Given the description of an element on the screen output the (x, y) to click on. 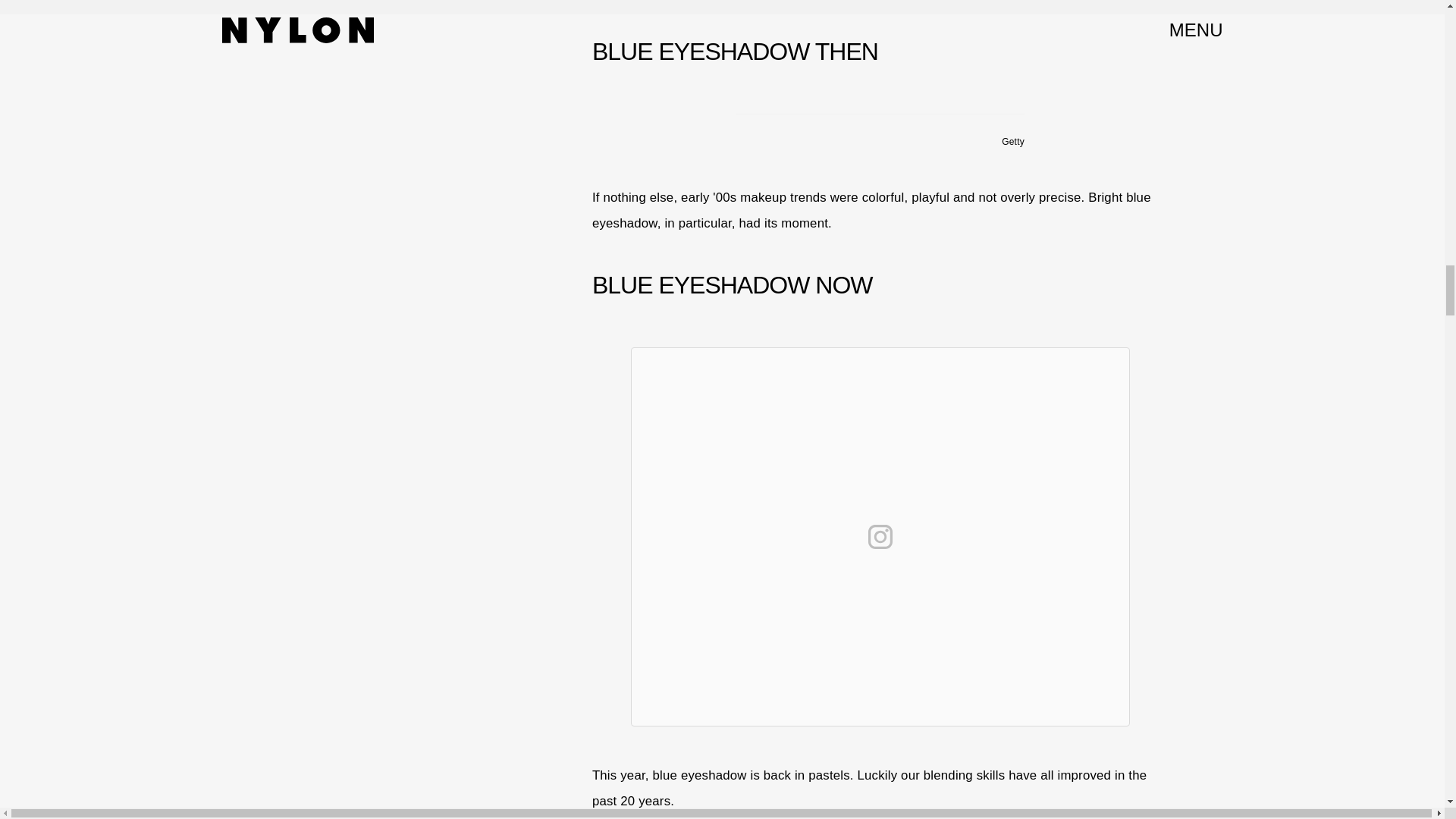
View on Instagram (879, 536)
